Given the description of an element on the screen output the (x, y) to click on. 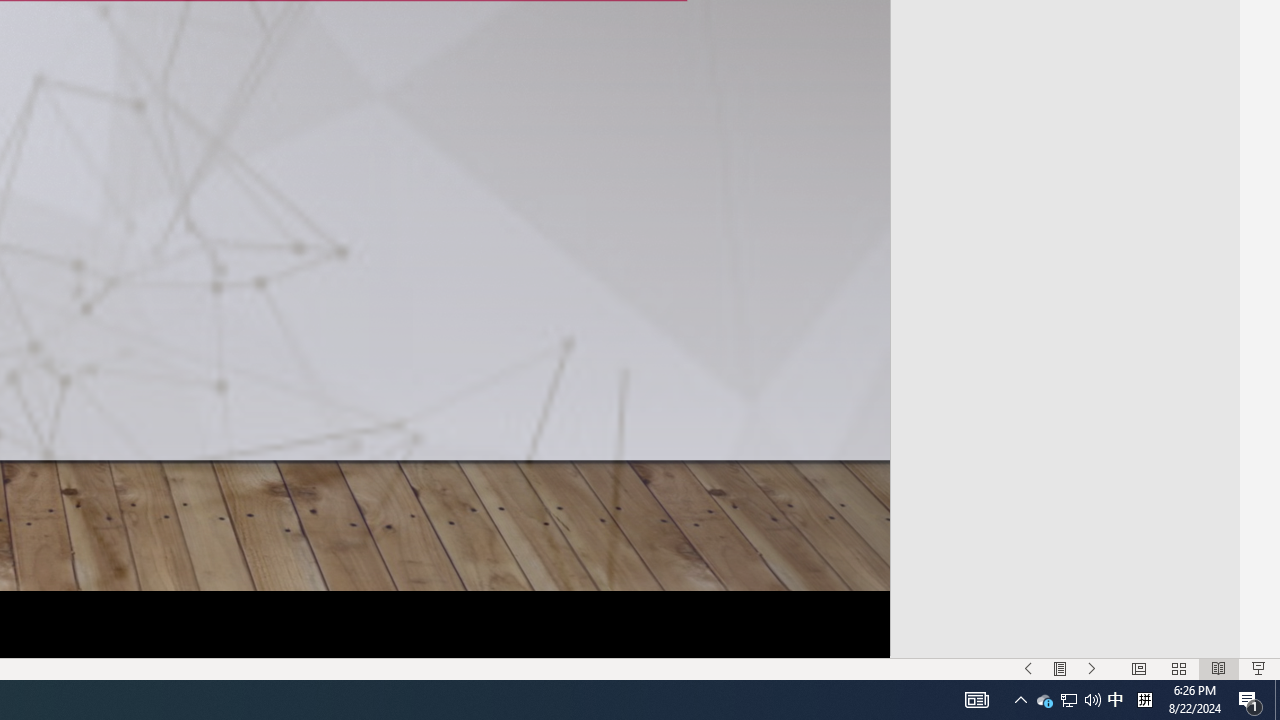
Menu On (1060, 668)
Slide Show Previous On (1028, 668)
Slide Show Next On (1092, 668)
